Given the description of an element on the screen output the (x, y) to click on. 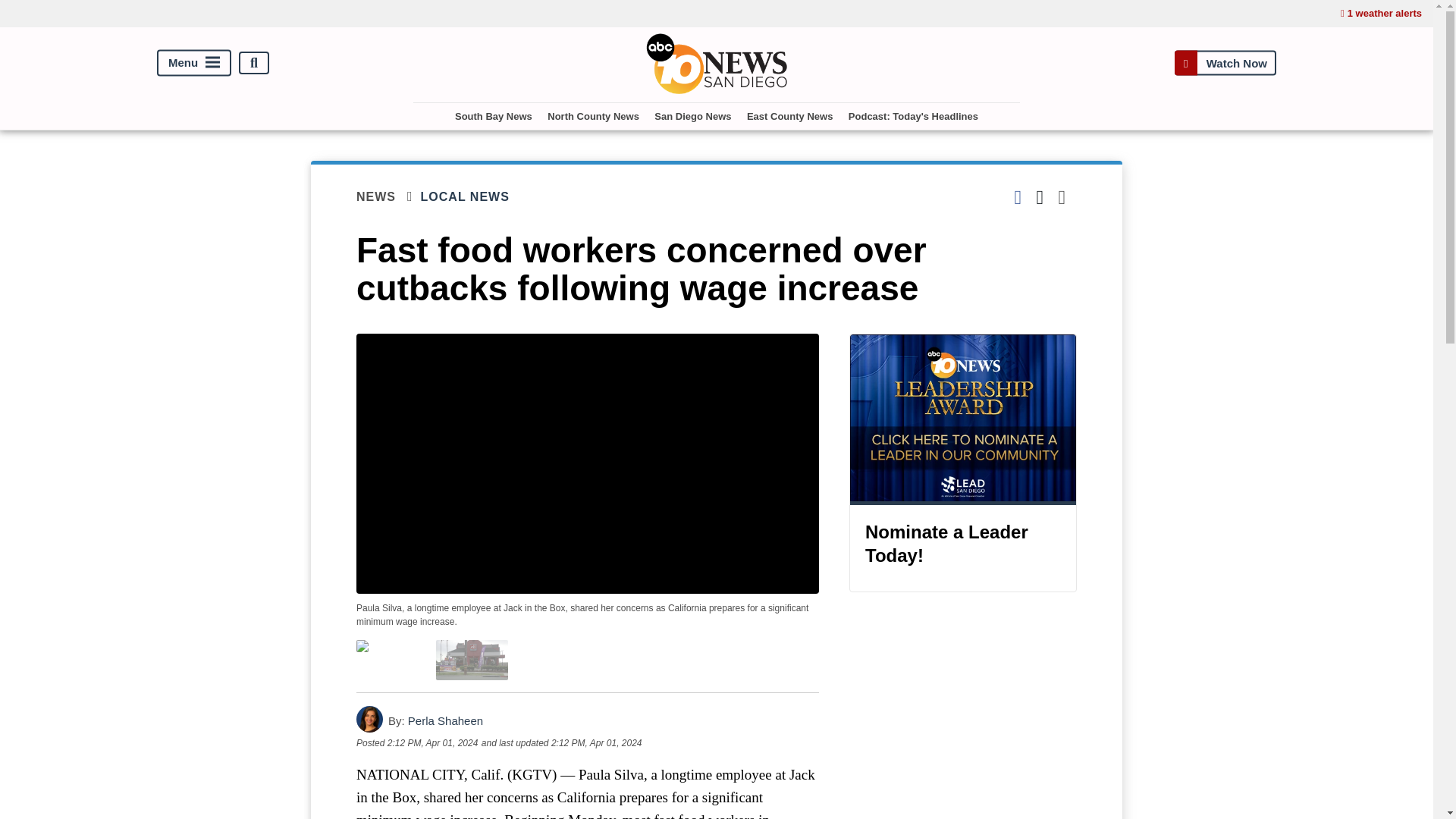
Watch Now (1224, 62)
Menu (194, 62)
